Given the description of an element on the screen output the (x, y) to click on. 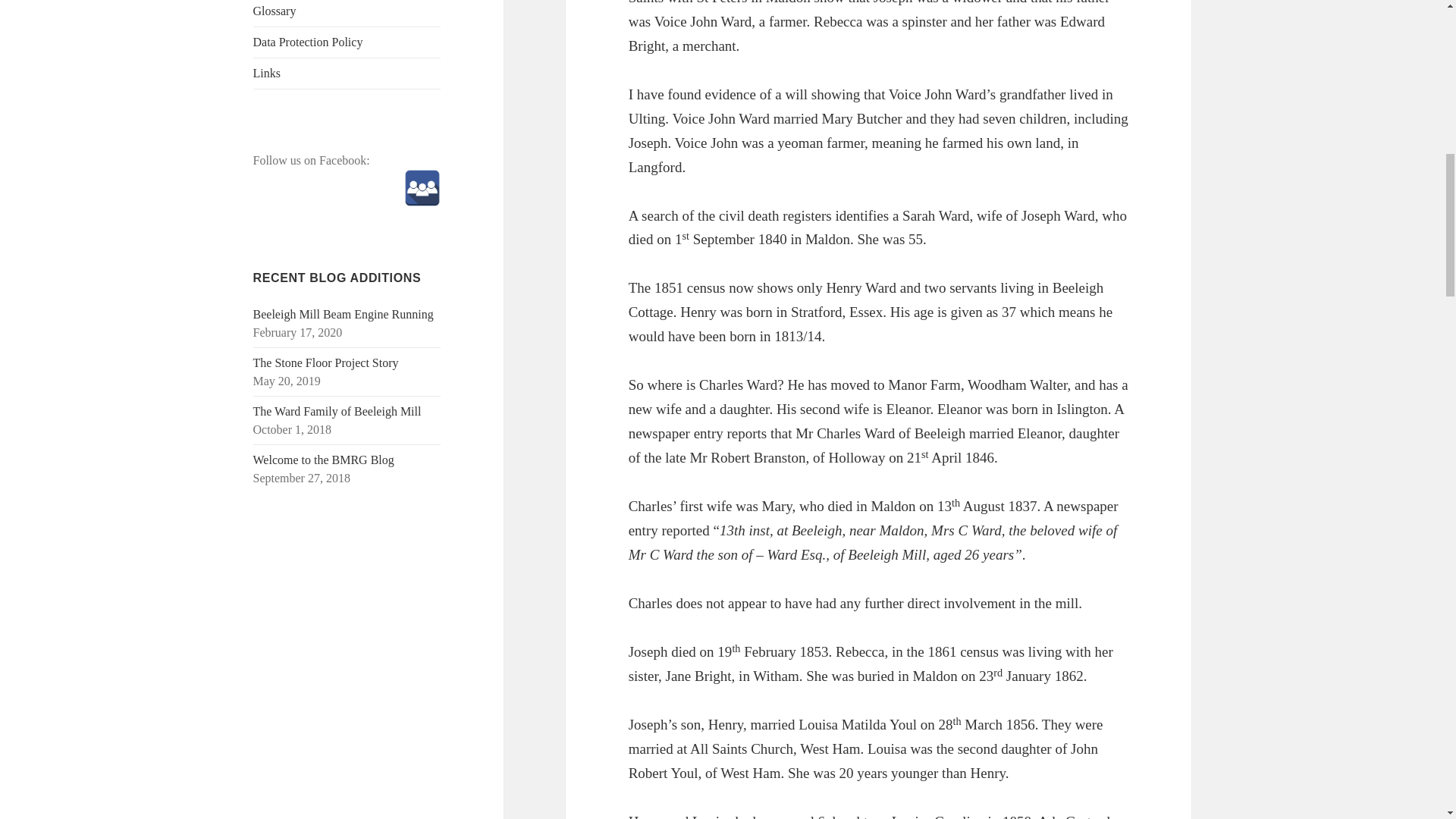
Beeleigh Mill Beam Engine Running (343, 314)
The Ward Family of Beeleigh Mill (337, 410)
Welcome to the BMRG Blog (323, 459)
Glossary (347, 13)
Links (347, 73)
Data Protection Policy (347, 42)
Facebook Group (422, 187)
The Stone Floor Project Story (325, 362)
